Given the description of an element on the screen output the (x, y) to click on. 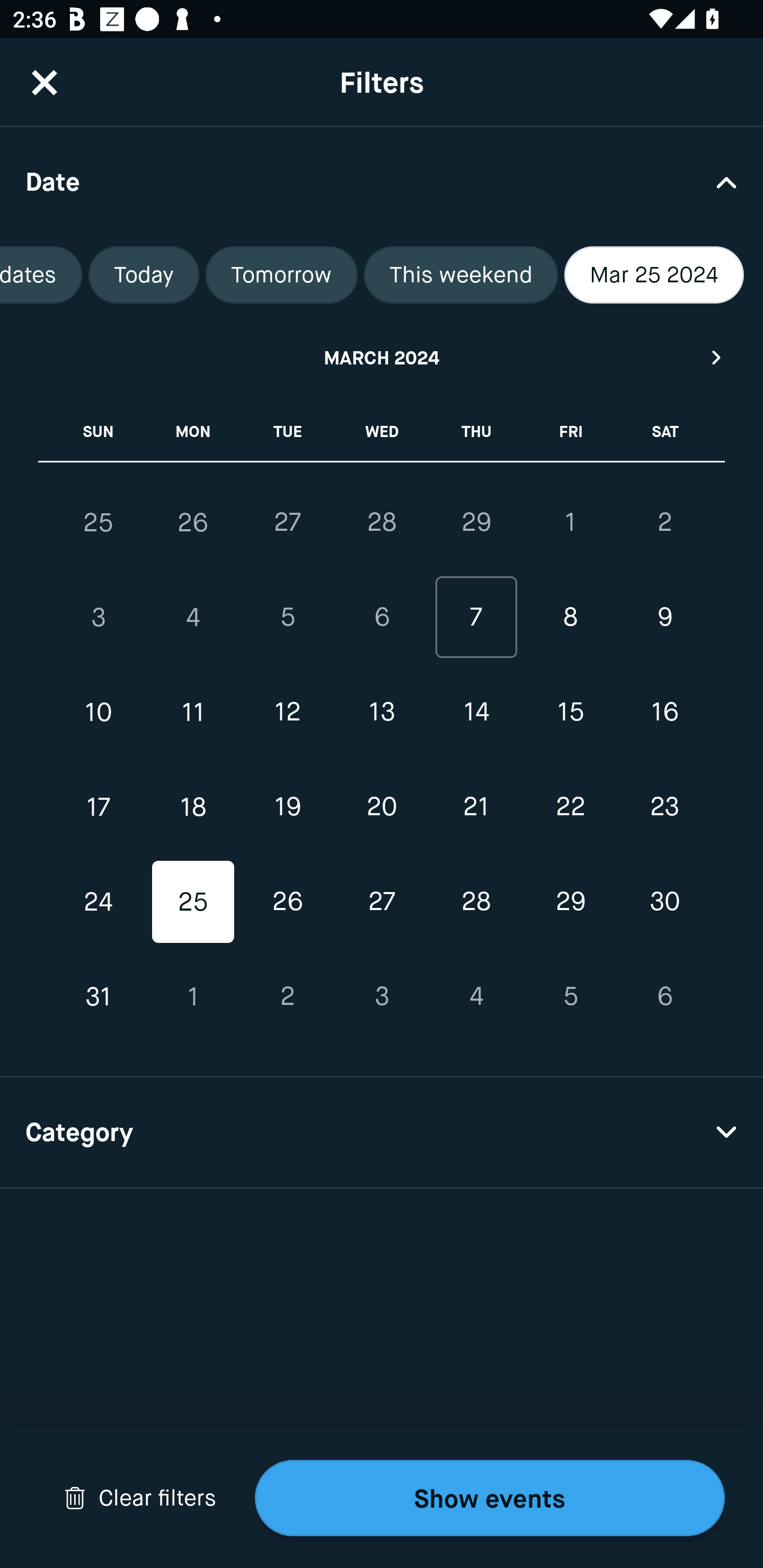
CloseButton (44, 82)
Date Drop Down Arrow (381, 181)
Today (143, 274)
Tomorrow (281, 274)
This weekend (460, 274)
Mar 25 2024 (653, 274)
Next (717, 357)
25 (98, 522)
26 (192, 522)
27 (287, 522)
28 (381, 522)
29 (475, 522)
1 (570, 522)
2 (664, 522)
3 (98, 617)
4 (192, 617)
5 (287, 617)
6 (381, 617)
7 (475, 617)
8 (570, 617)
9 (664, 617)
10 (98, 711)
11 (192, 711)
12 (287, 711)
13 (381, 711)
14 (475, 711)
15 (570, 711)
16 (664, 711)
17 (98, 806)
18 (192, 806)
19 (287, 806)
20 (381, 806)
21 (475, 806)
22 (570, 806)
23 (664, 806)
24 (98, 901)
25 (192, 901)
26 (287, 901)
27 (381, 901)
28 (475, 901)
29 (570, 901)
30 (664, 901)
31 (98, 996)
1 (192, 996)
2 (287, 996)
3 (381, 996)
4 (475, 996)
5 (570, 996)
6 (664, 996)
Category Drop Down Arrow (381, 1132)
Drop Down Arrow Clear filters (139, 1497)
Show events (489, 1497)
